Given the description of an element on the screen output the (x, y) to click on. 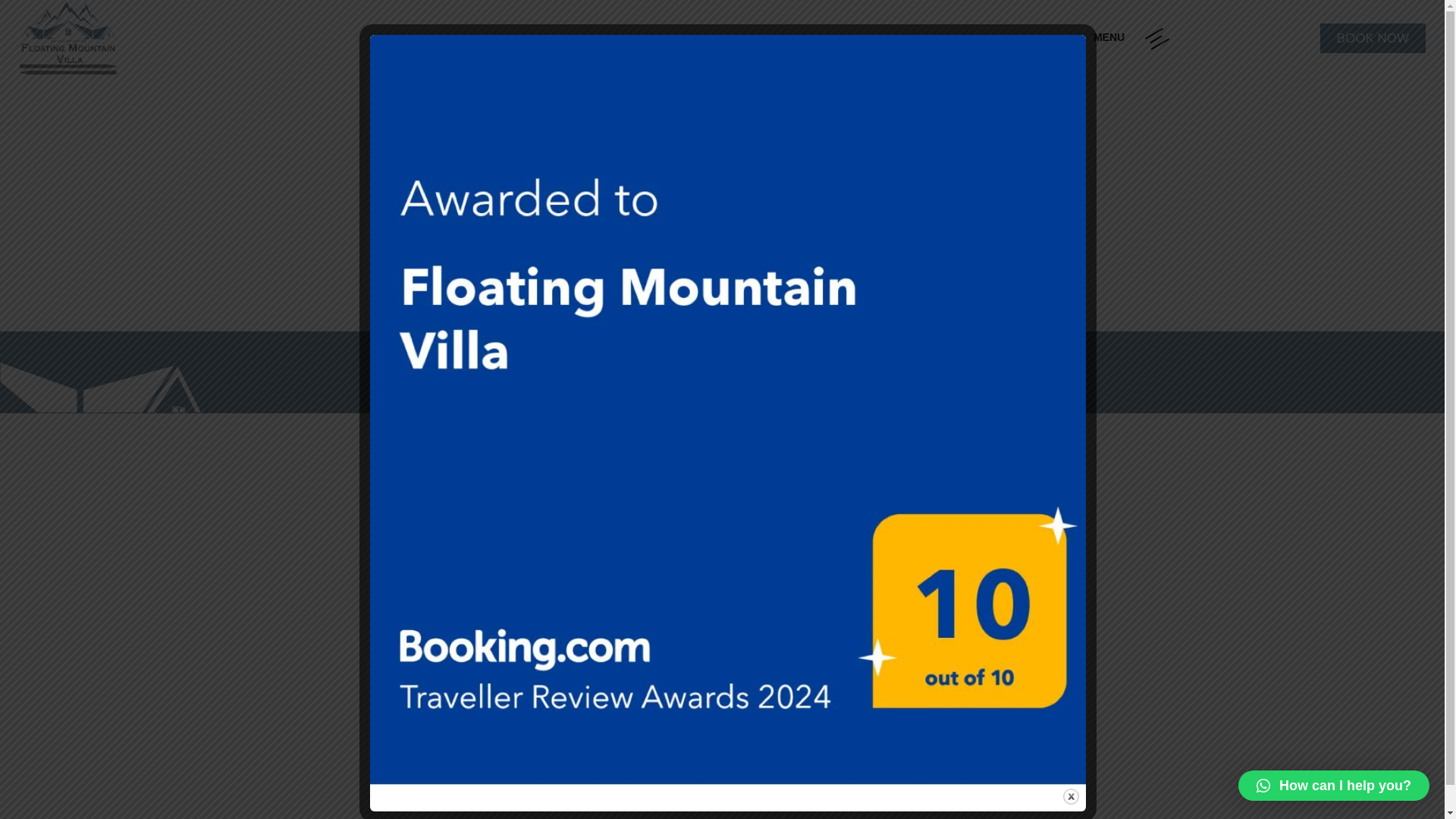
Floating Mountain Villa - Logo (132, 38)
BOOK NOW (1372, 38)
